Given the description of an element on the screen output the (x, y) to click on. 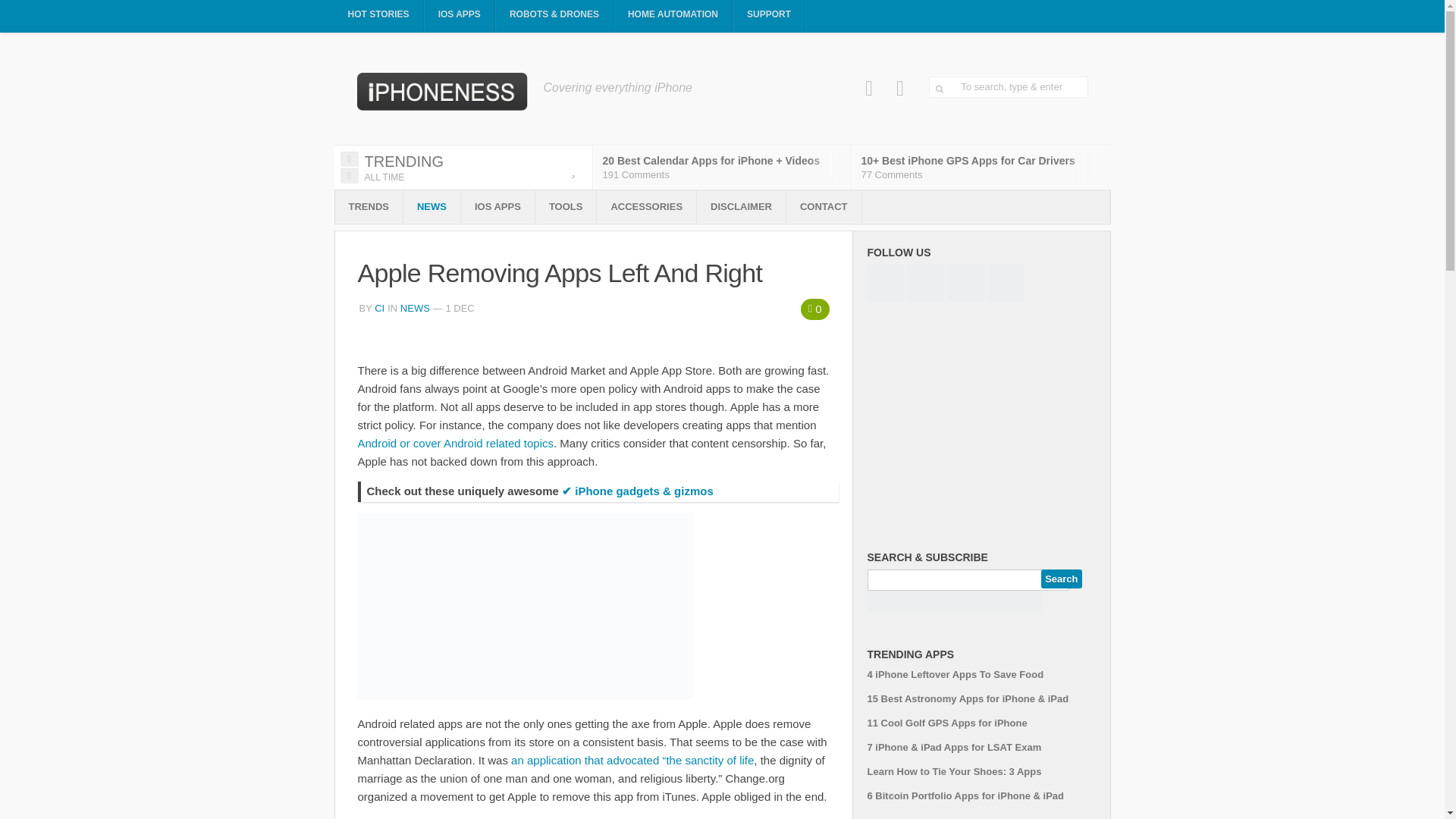
Pinterest (900, 87)
SUPPORT (769, 16)
Facebook (869, 87)
IOS APPS (460, 16)
TRENDS (368, 206)
HOT STORIES (377, 16)
NEWS (431, 206)
Search (1061, 578)
HOME AUTOMATION (673, 16)
